Given the description of an element on the screen output the (x, y) to click on. 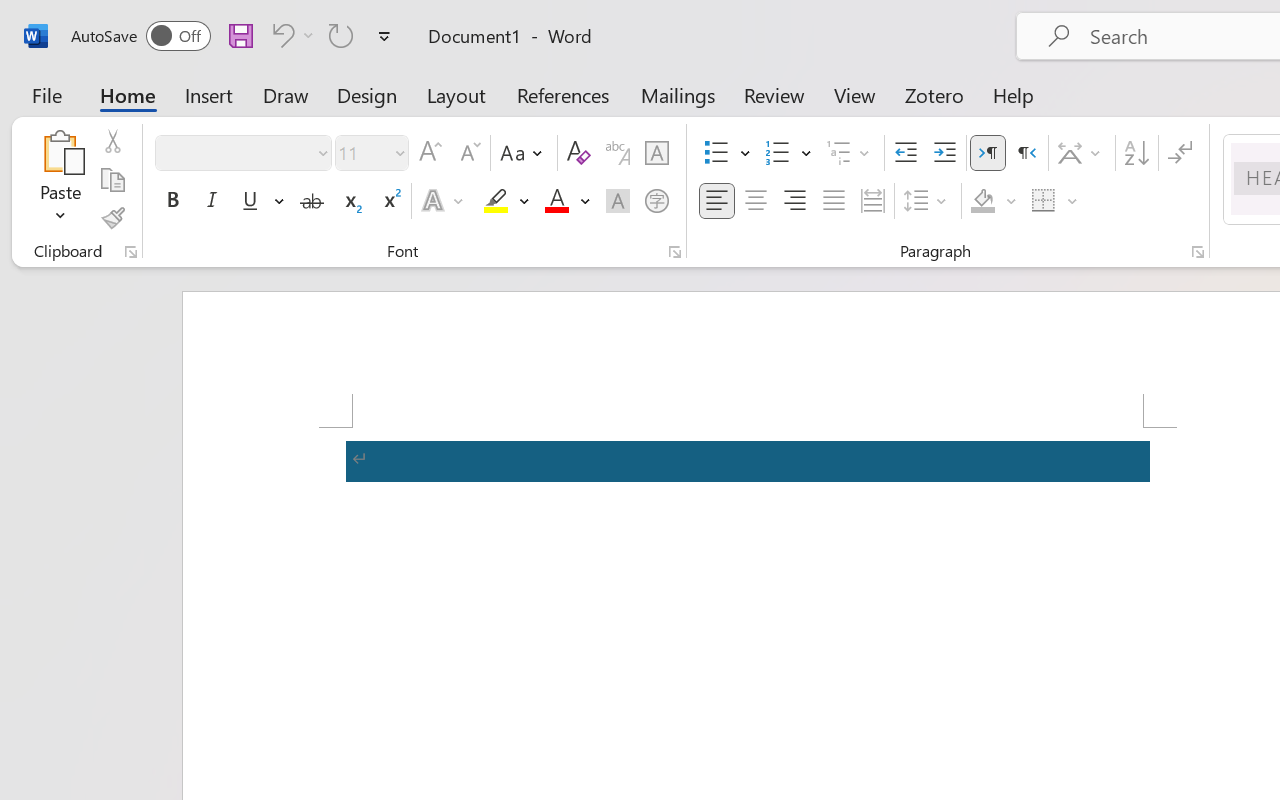
Shading No Color (982, 201)
